Given the description of an element on the screen output the (x, y) to click on. 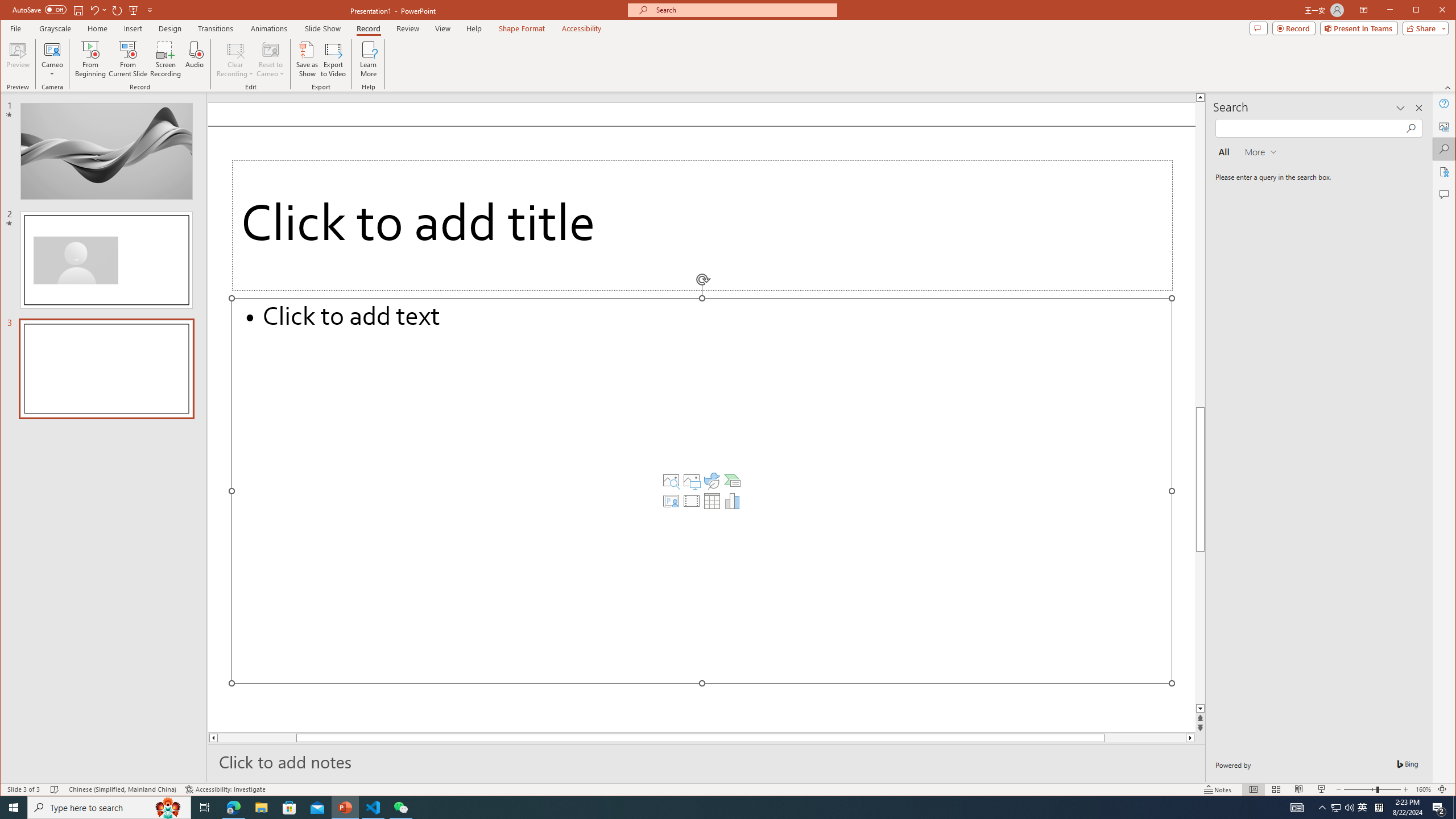
Insert an Icon (711, 480)
Title TextBox (701, 225)
Save as Show (307, 59)
